Given the description of an element on the screen output the (x, y) to click on. 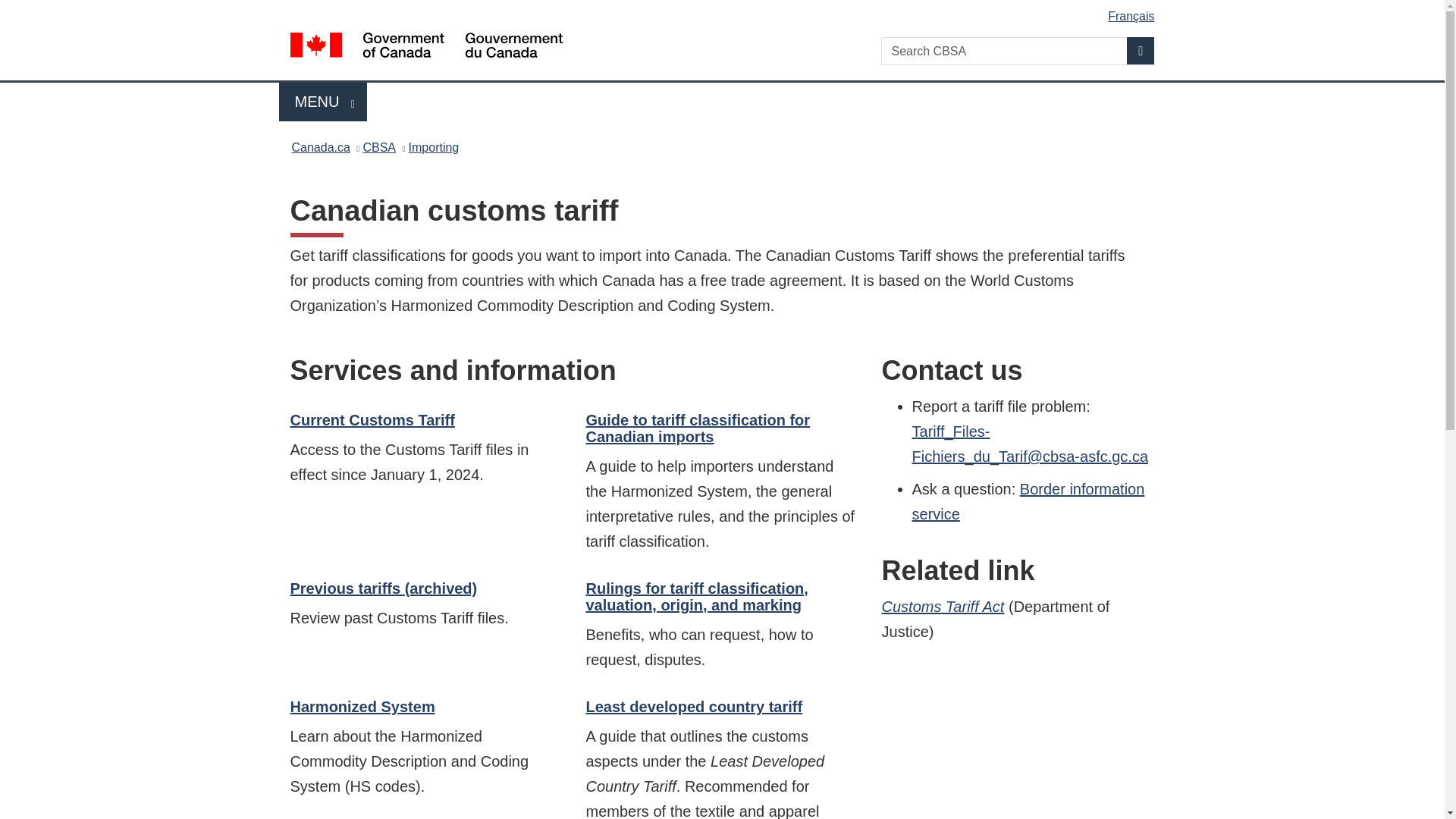
Canada.ca (320, 147)
Least developed country tariff (693, 706)
Border information service (1028, 501)
Guide to tariff classification for Canadian imports (697, 428)
CBSA (379, 147)
Current Customs Tariff (371, 419)
Search (1140, 50)
Importing (434, 147)
Customs Tariff Act (322, 101)
Skip to main content (943, 606)
Harmonized System (725, 11)
